Given the description of an element on the screen output the (x, y) to click on. 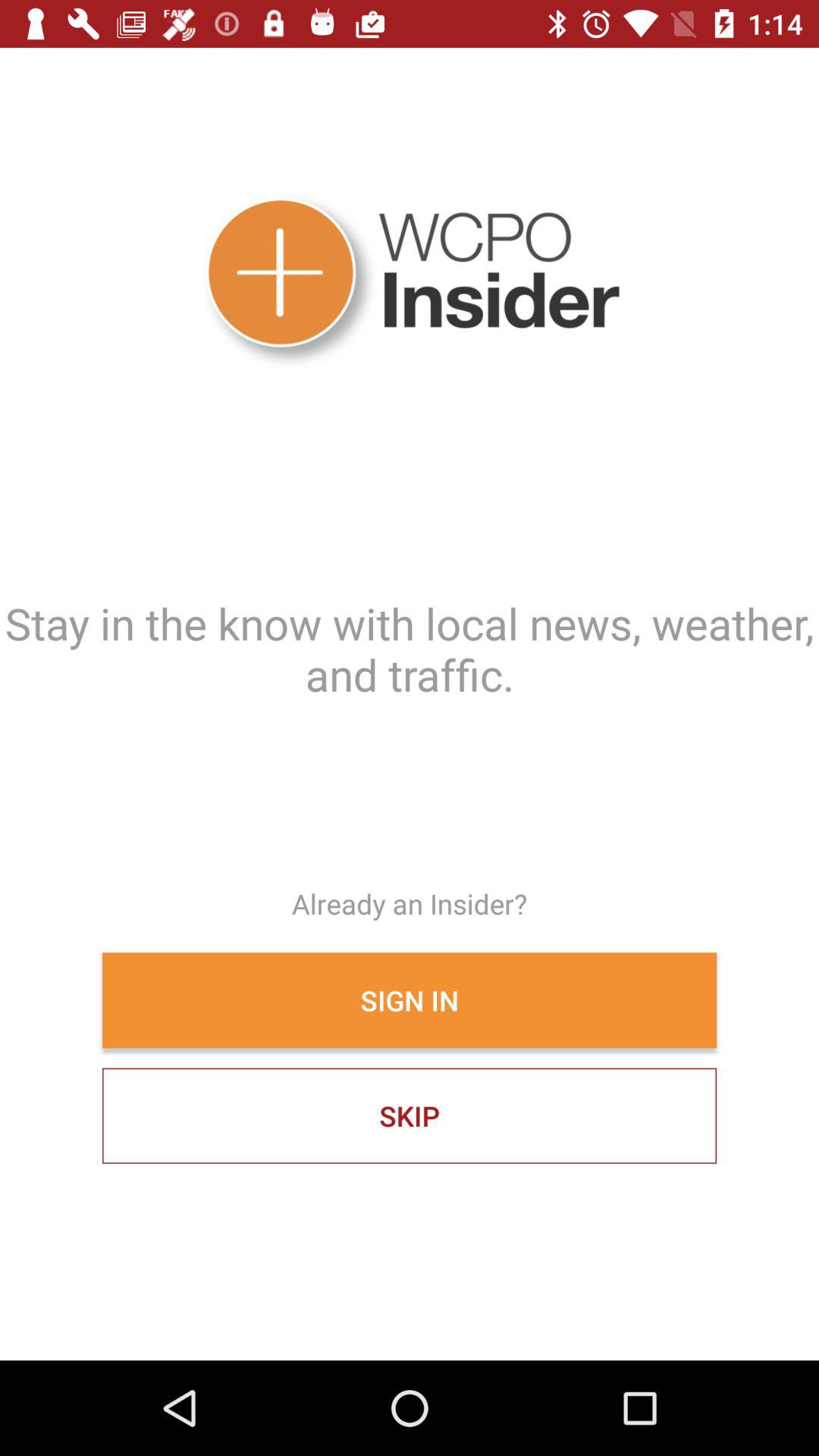
click skip icon (409, 1115)
